Given the description of an element on the screen output the (x, y) to click on. 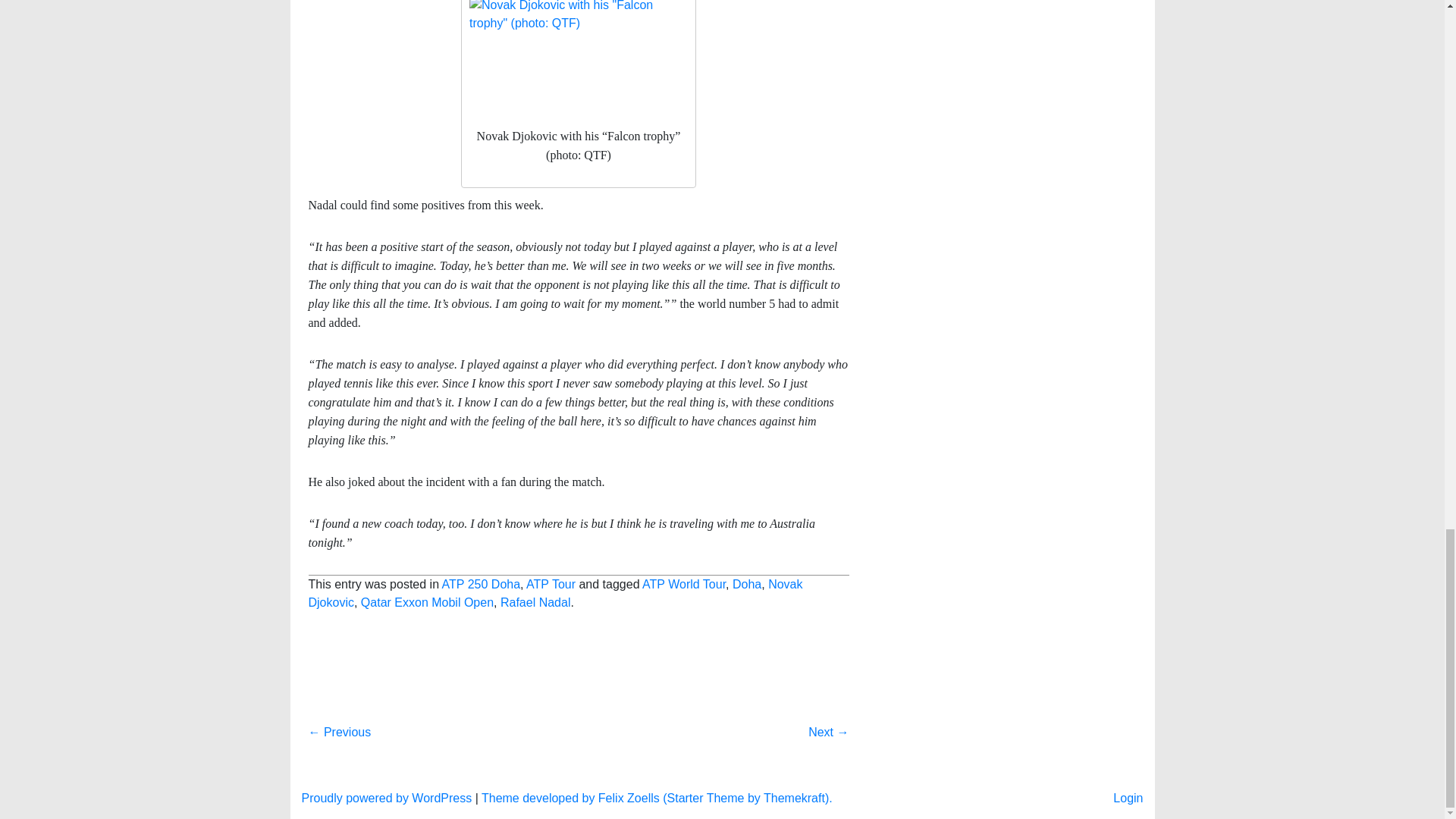
ATP Tour (550, 584)
ATP World Tour (683, 584)
Doha (746, 584)
Qatar Exxon Mobil Open (427, 602)
ATP 250 Doha (480, 584)
Proudly powered by WordPress (386, 797)
Login (1127, 798)
Rafael Nadal (535, 602)
Novak Djokovic (554, 593)
